Given the description of an element on the screen output the (x, y) to click on. 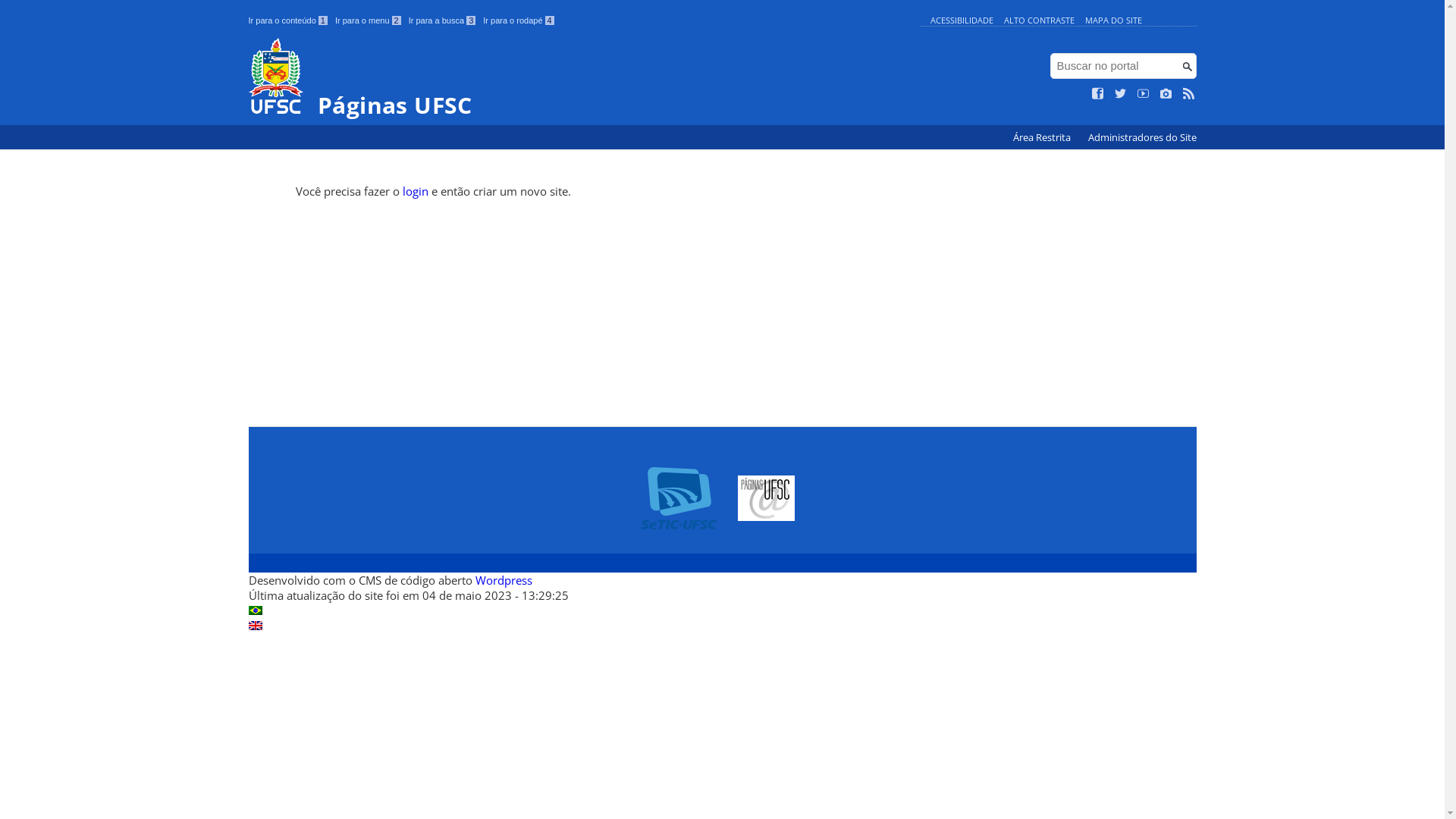
ACESSIBILIDADE Element type: text (960, 19)
Siga no Twitter Element type: hover (1120, 93)
Veja no Instagram Element type: hover (1166, 93)
login Element type: text (415, 190)
MAPA DO SITE Element type: text (1112, 19)
Wordpress Element type: text (502, 579)
Ir para o menu 2 Element type: text (368, 20)
Curta no Facebook Element type: hover (1098, 93)
Administradores do Site Element type: text (1141, 137)
English (en) Element type: hover (255, 625)
Ir para a busca 3 Element type: text (442, 20)
ALTO CONTRASTE Element type: text (1039, 19)
